Given the description of an element on the screen output the (x, y) to click on. 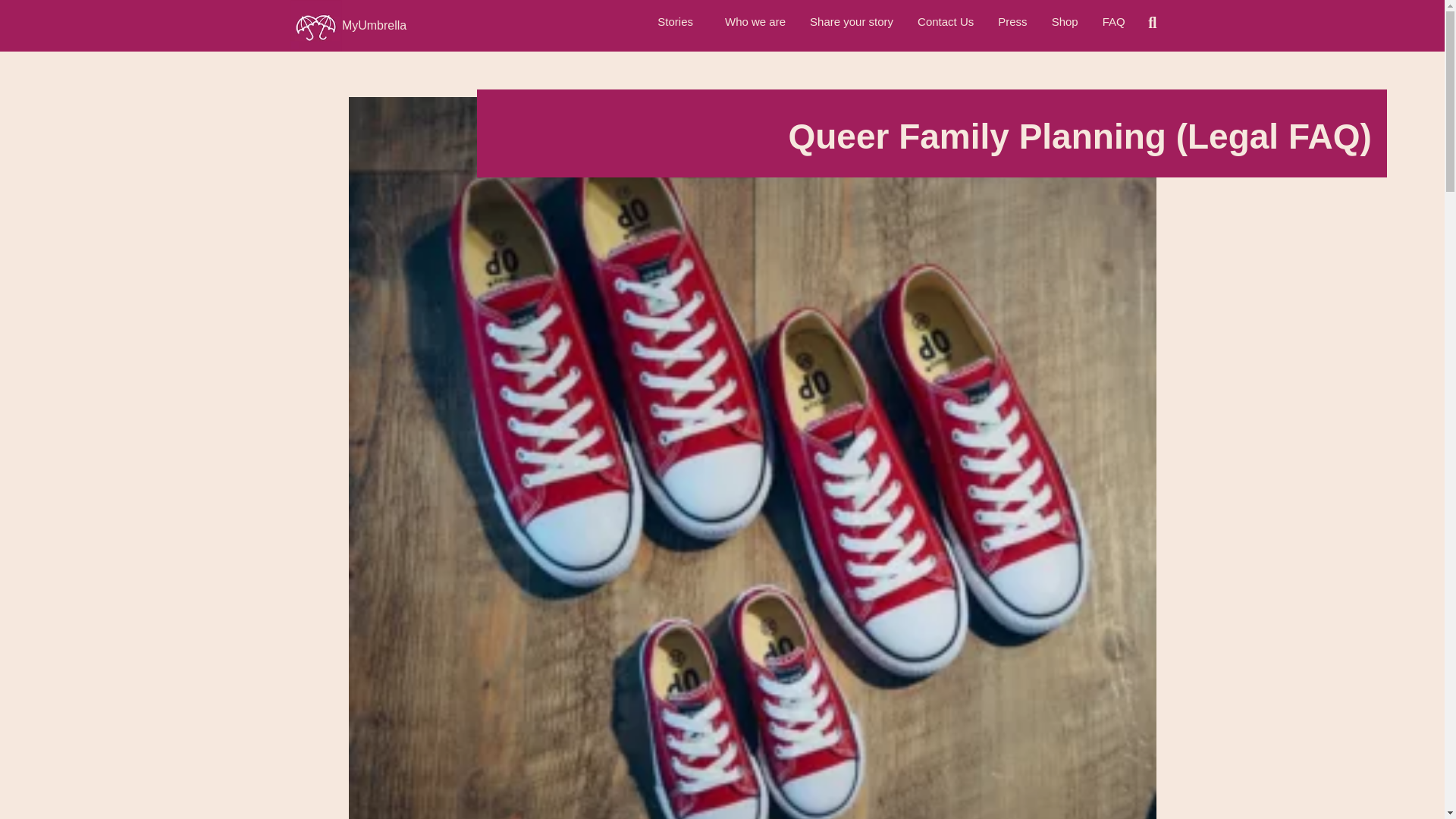
Contact Us (945, 20)
MyUmbrella (374, 24)
Share your story (851, 20)
Shop (1064, 20)
Who we are (755, 20)
FAQ (1113, 20)
Press (1012, 20)
Stories (679, 20)
